Given the description of an element on the screen output the (x, y) to click on. 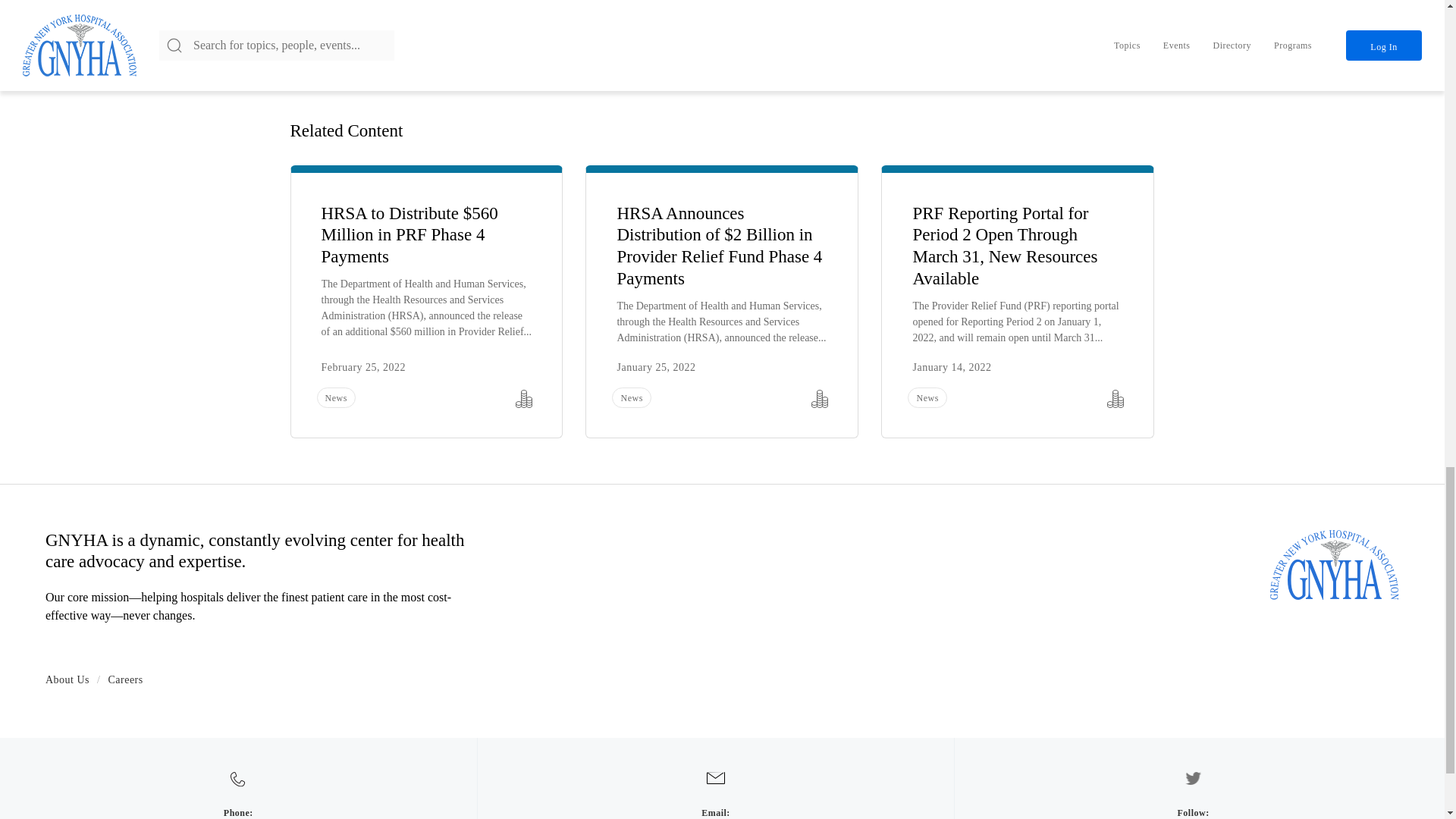
Home (1334, 563)
About Us (66, 679)
Careers (124, 679)
Finance Icon (819, 398)
Health and Human Services (479, 10)
Finance Icon (523, 398)
Finance Icon (1115, 398)
